Given the description of an element on the screen output the (x, y) to click on. 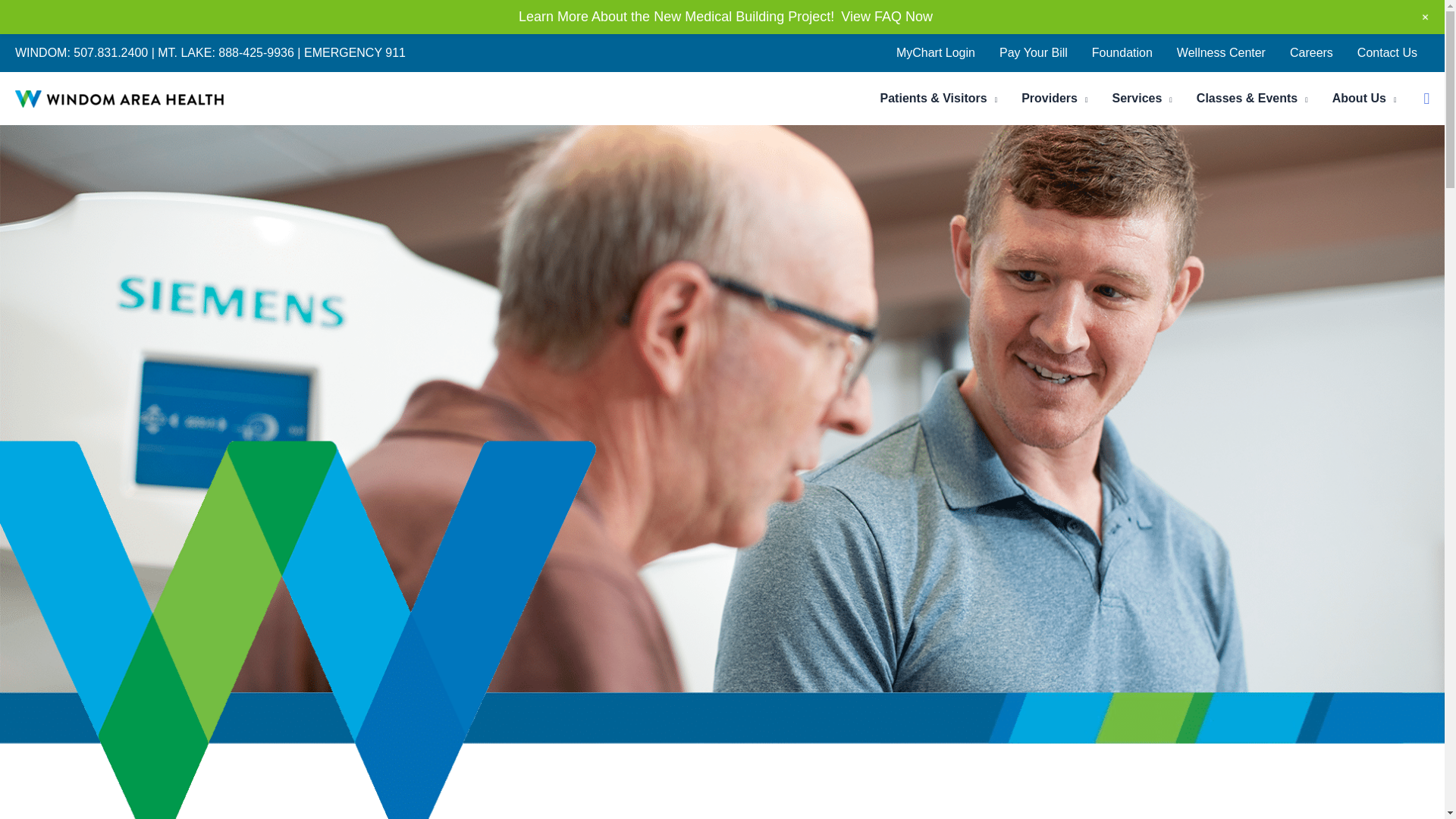
Pay Your Bill (1033, 53)
Foundation (1122, 53)
Wellness Center (1221, 53)
Contact Us (1387, 53)
Careers (1311, 53)
MyChart Login (935, 53)
Providers (1054, 98)
